Given the description of an element on the screen output the (x, y) to click on. 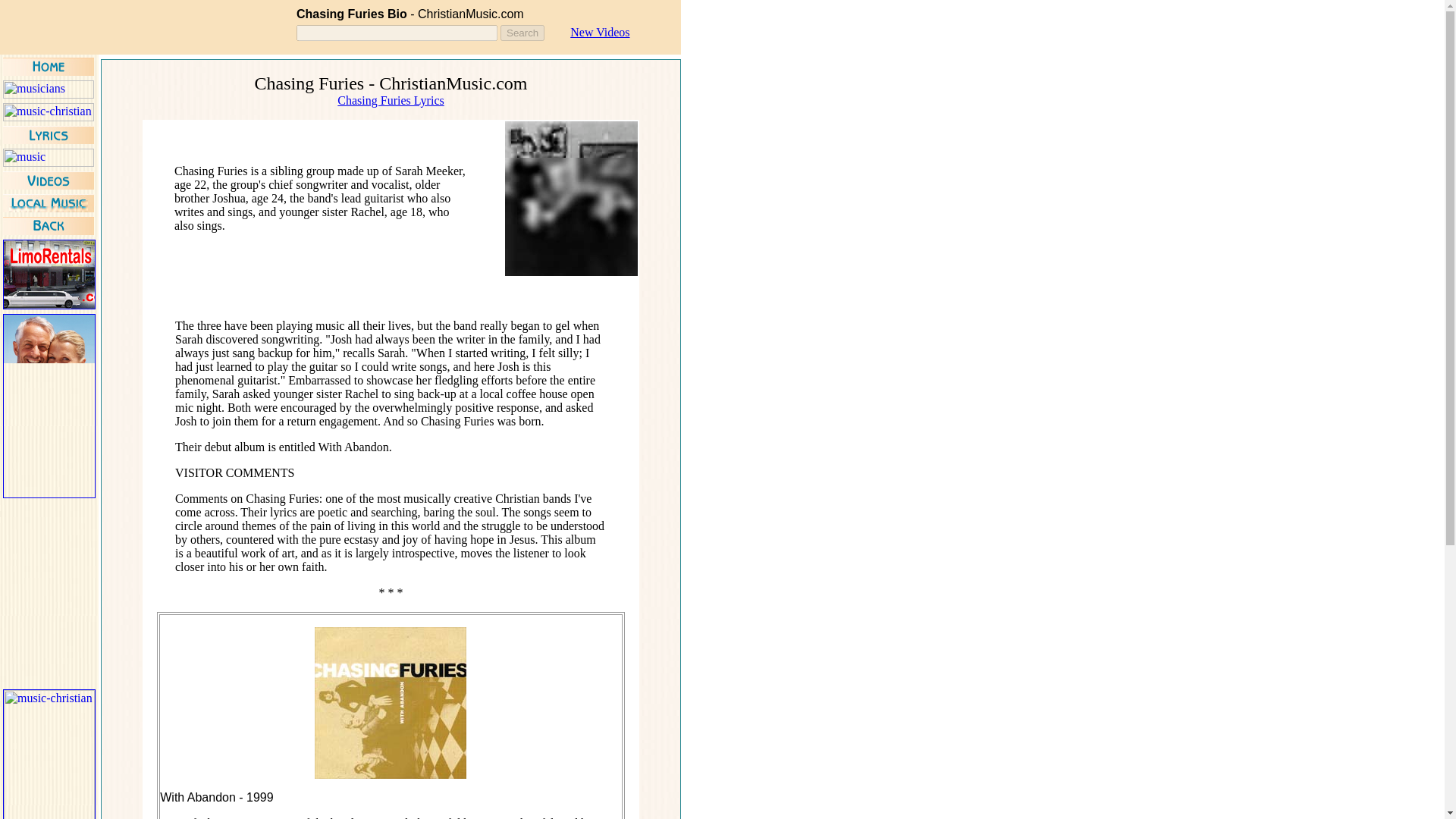
New Videos (599, 31)
Chasing Furies Lyrics (390, 100)
Search (522, 32)
Search (522, 32)
